Given the description of an element on the screen output the (x, y) to click on. 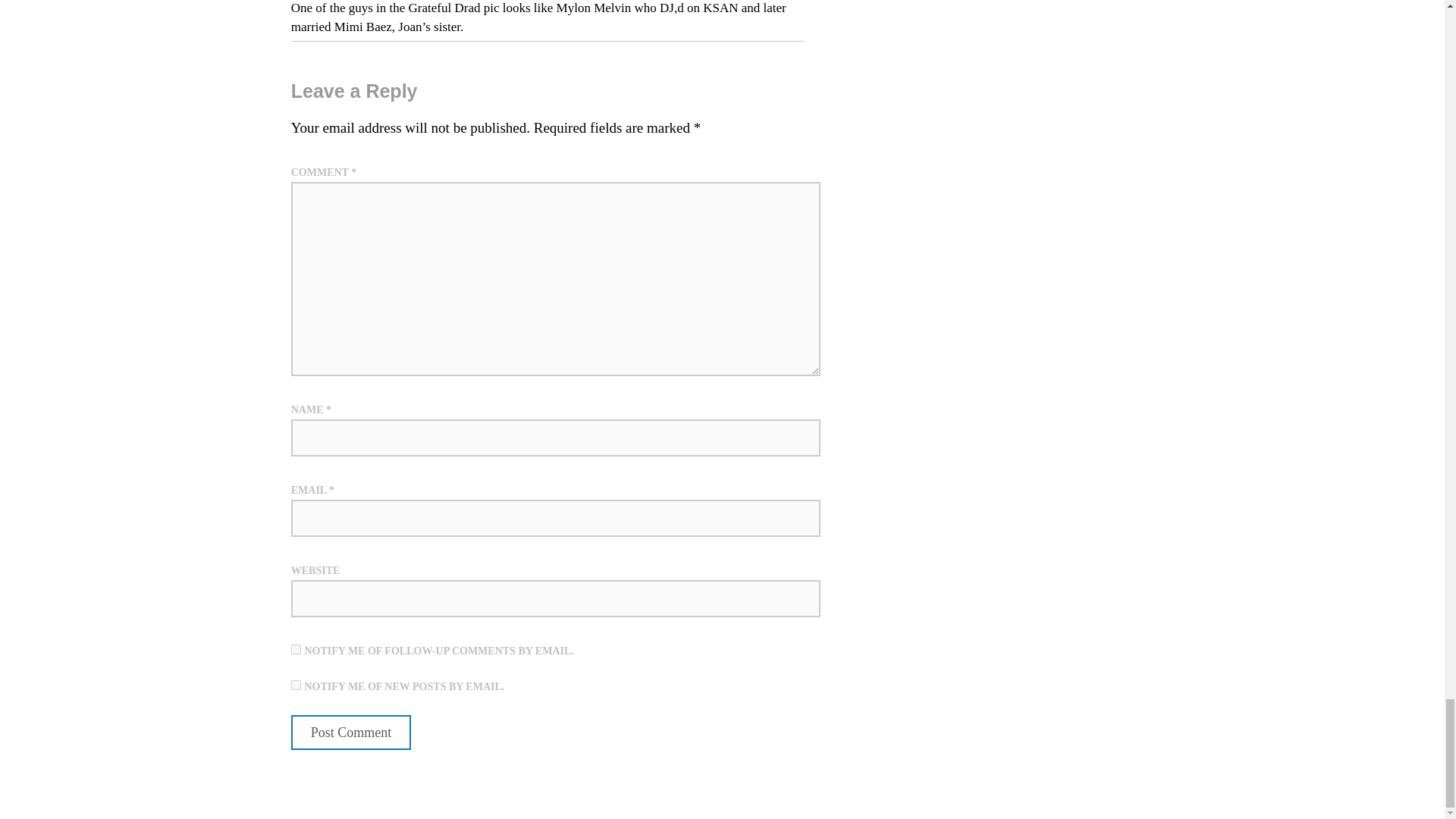
subscribe (296, 685)
Post Comment (351, 732)
subscribe (296, 649)
